Given the description of an element on the screen output the (x, y) to click on. 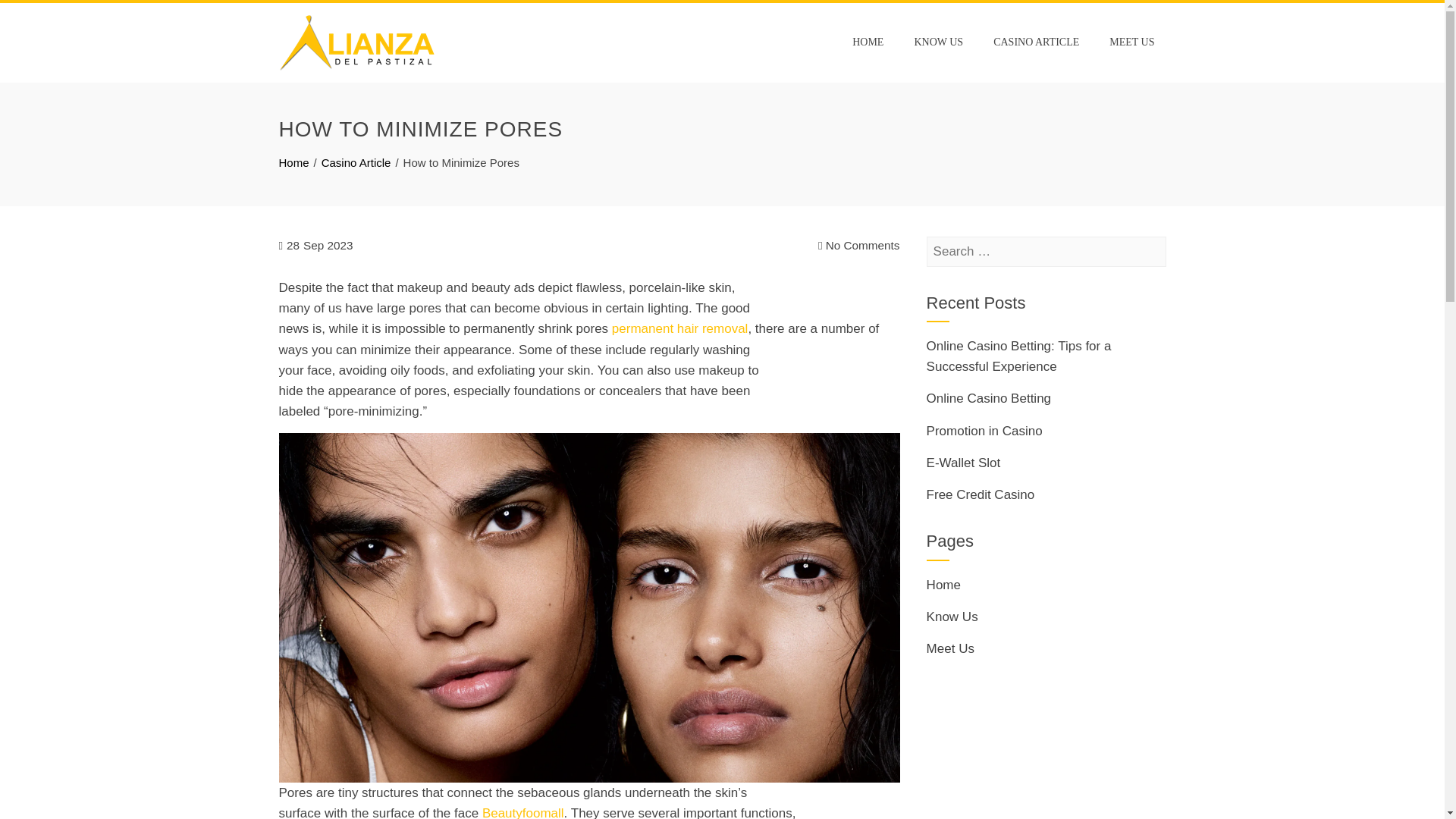
HOME (868, 42)
Online Casino Betting: Tips for a Successful Experience (1019, 356)
E-Wallet Slot (963, 462)
Free Credit Casino (980, 494)
Casino Article (356, 162)
Home (943, 585)
Home (293, 162)
Promotion in Casino (984, 431)
Know Us (952, 616)
Search (35, 15)
MEET US (1131, 42)
Online Casino Betting (988, 398)
KNOW US (938, 42)
No Comments (858, 245)
Meet Us (950, 648)
